Given the description of an element on the screen output the (x, y) to click on. 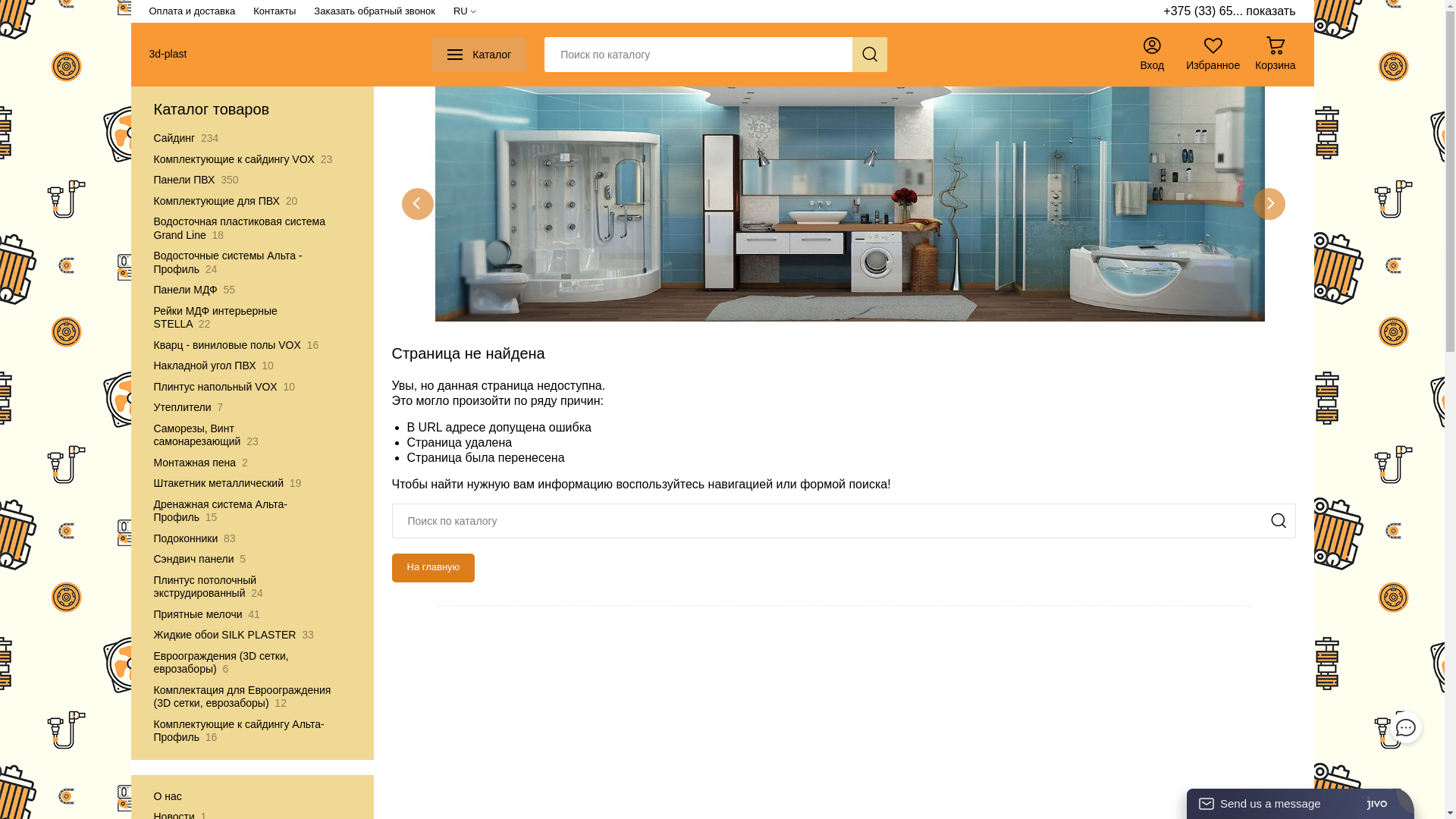
RU Element type: text (464, 11)
3d-plast Element type: text (167, 54)
